Given the description of an element on the screen output the (x, y) to click on. 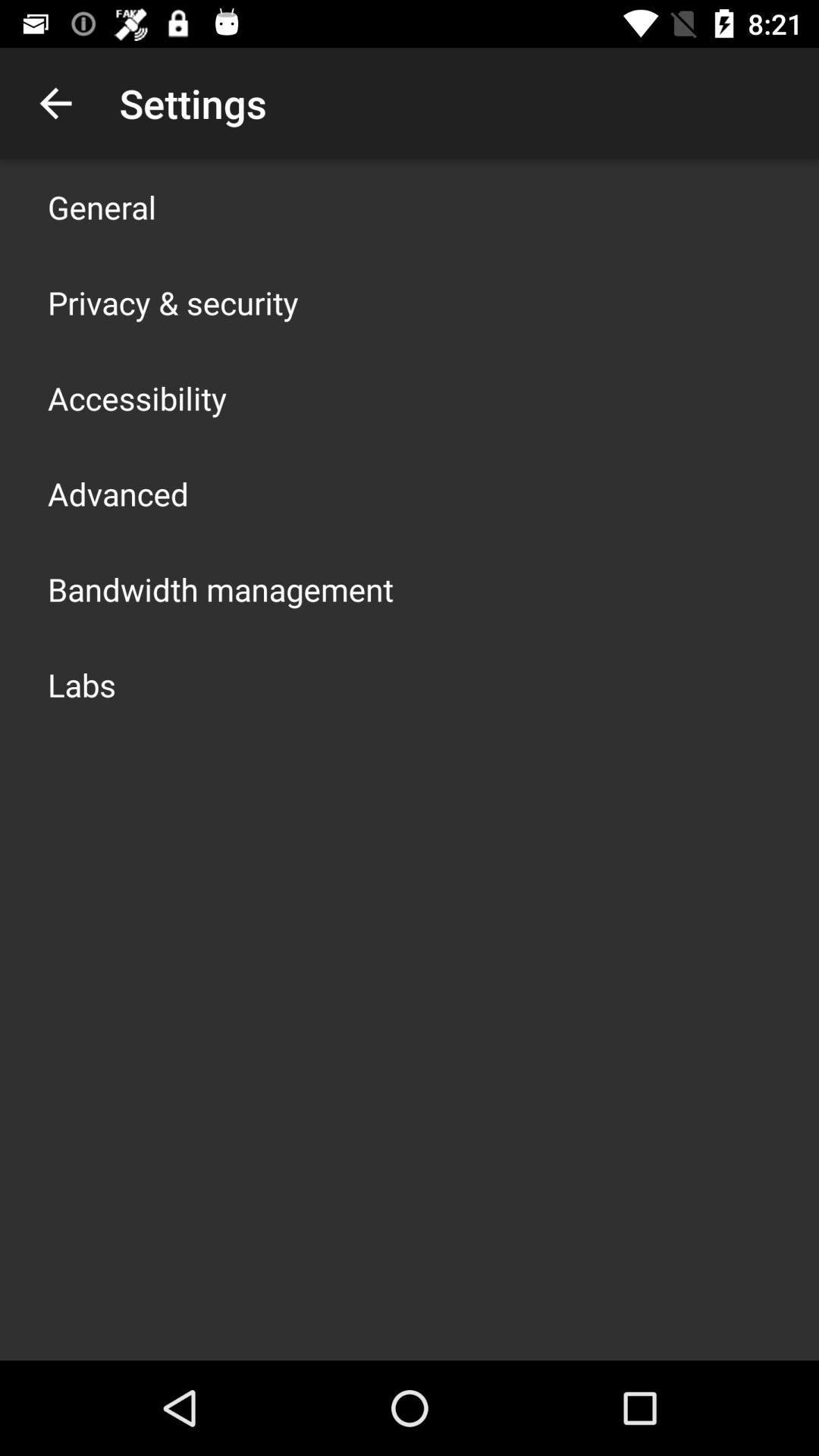
open icon above privacy & security icon (101, 206)
